Given the description of an element on the screen output the (x, y) to click on. 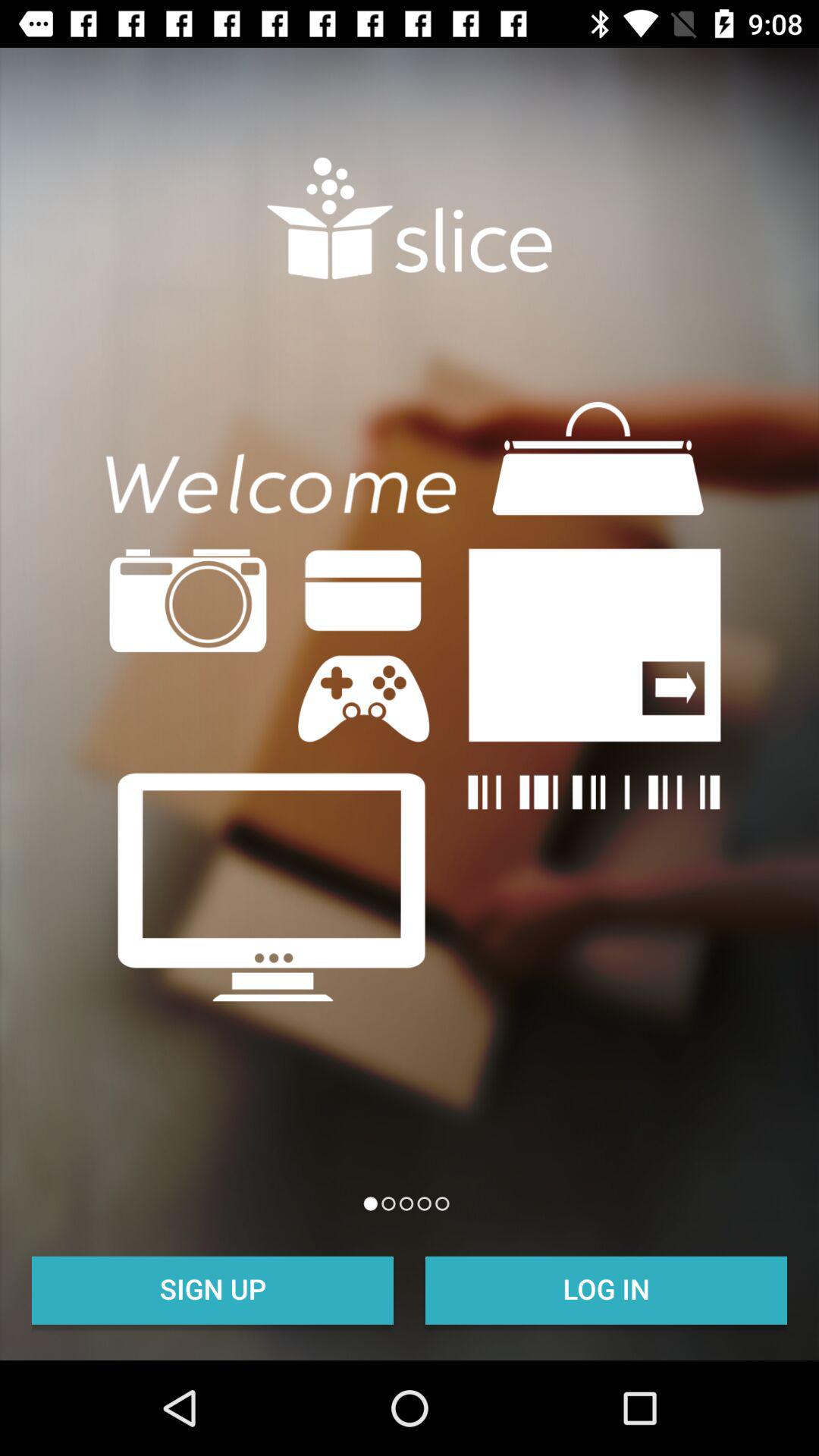
open item to the right of the sign up item (606, 1288)
